Given the description of an element on the screen output the (x, y) to click on. 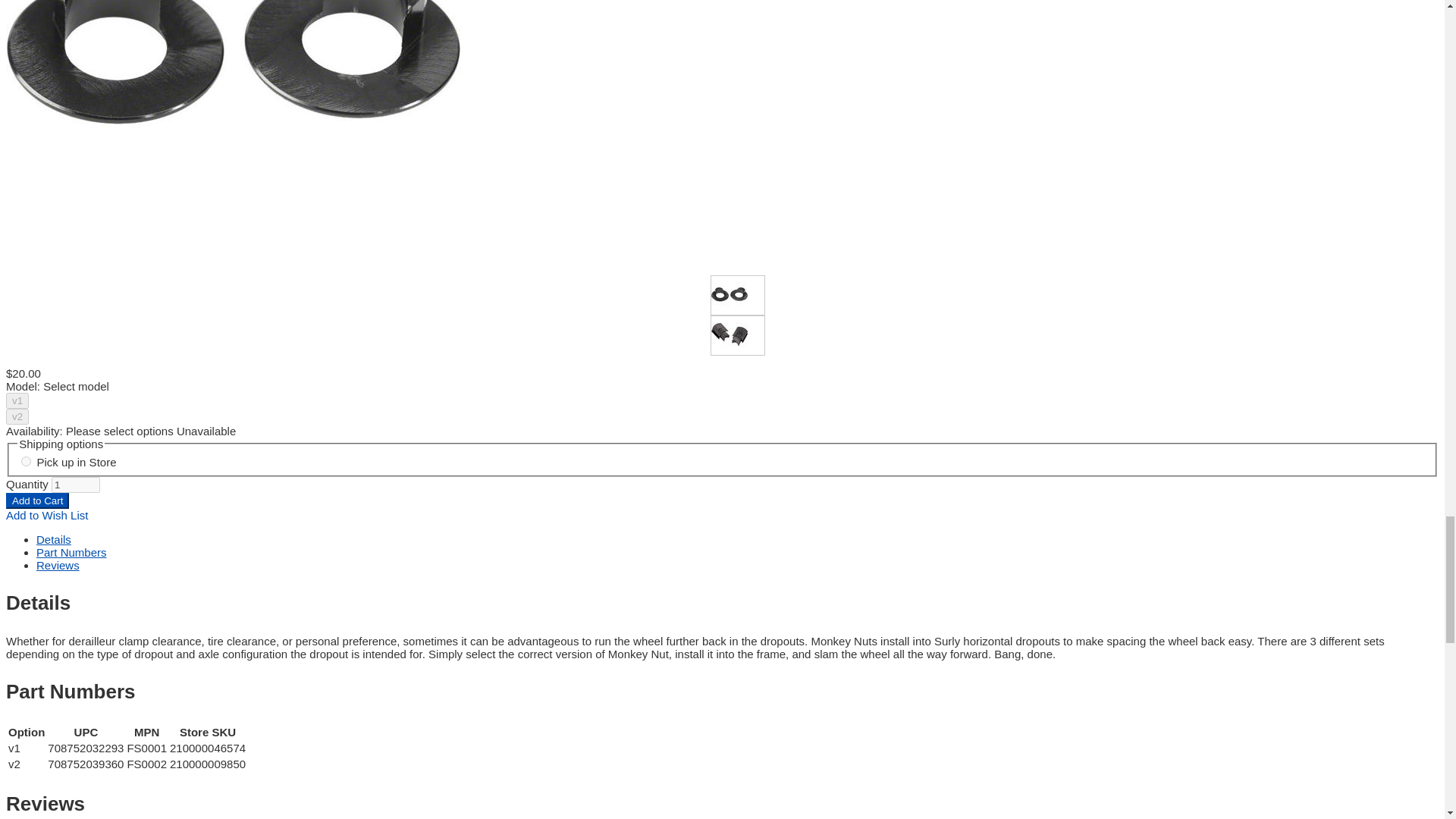
Surly Monkey Nuts (233, 130)
1 (75, 484)
Model: v2 (729, 334)
Model: v1 (729, 294)
on (25, 461)
